Given the description of an element on the screen output the (x, y) to click on. 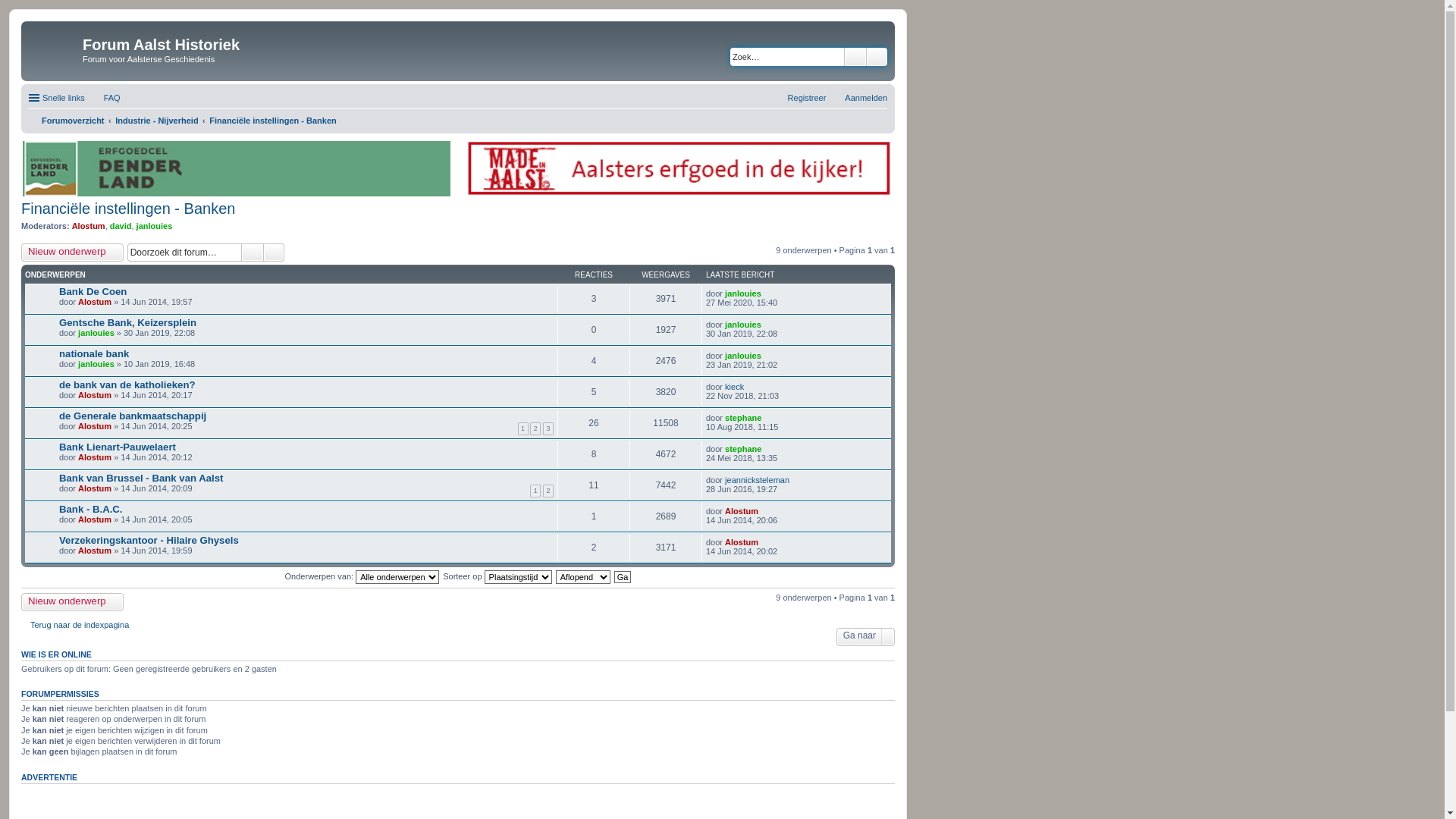
Alostum Element type: text (94, 394)
Bekijk laatste bericht Element type: text (764, 510)
janlouies Element type: text (742, 293)
Gentsche Bank, Keizersplein Element type: text (127, 322)
Alostum Element type: text (94, 456)
stephane Element type: text (742, 417)
janlouies Element type: text (96, 363)
Alostum Element type: text (94, 487)
Uitgebreid zoeken Element type: text (876, 56)
janlouies Element type: text (742, 355)
Bekijk laatste bericht Element type: text (795, 479)
Aanmelden Element type: text (859, 97)
2 Element type: text (535, 428)
de bank van de katholieken? Element type: text (127, 384)
Alostum Element type: text (94, 301)
Terug naar de indexpagina Element type: text (74, 624)
Zoek op sleutelwoorden Element type: hover (787, 56)
Bank Lienart-Pauwelaert Element type: text (117, 446)
Bank van Brussel - Bank van Aalst Element type: text (140, 477)
Bekijk laatste bericht Element type: text (767, 324)
Nieuw onderwerp Element type: text (72, 252)
Forumoverzicht Element type: text (66, 120)
Bekijk laatste bericht Element type: text (767, 355)
Bekijk laatste bericht Element type: text (767, 293)
david Element type: text (120, 225)
Snelle links Element type: text (56, 97)
1 Element type: text (535, 490)
2 Element type: text (547, 490)
Bank - B.A.C. Element type: text (90, 508)
FAQ Element type: text (105, 97)
Industrie - Nijverheid Element type: text (156, 120)
Bank De Coen Element type: text (92, 291)
kieck Element type: text (733, 386)
Bekijk laatste bericht Element type: text (767, 417)
Nieuw onderwerp Element type: text (72, 602)
Uitgebreid zoeken Element type: text (273, 252)
de Generale bankmaatschappij Element type: text (132, 415)
stephane Element type: text (742, 448)
Verzekeringskantoor - Hilaire Ghysels Element type: text (148, 540)
Registreer Element type: text (800, 97)
Bekijk laatste bericht Element type: text (764, 541)
janlouies Element type: text (742, 324)
3 Element type: text (547, 428)
Bekijk laatste bericht Element type: text (767, 448)
jeannicksteleman Element type: text (756, 479)
Alostum Element type: text (94, 519)
Ga Element type: text (622, 577)
Bekijk laatste bericht Element type: text (750, 386)
Zoek Element type: text (252, 252)
Zoek Element type: text (855, 56)
Alostum Element type: text (741, 510)
1 Element type: text (522, 428)
janlouies Element type: text (96, 332)
Alostum Element type: text (94, 425)
Alostum Element type: text (741, 541)
nationale bank Element type: text (93, 353)
Forumoverzicht Element type: hover (53, 49)
Alostum Element type: text (88, 225)
Alostum Element type: text (94, 550)
janlouies Element type: text (154, 225)
